Given the description of an element on the screen output the (x, y) to click on. 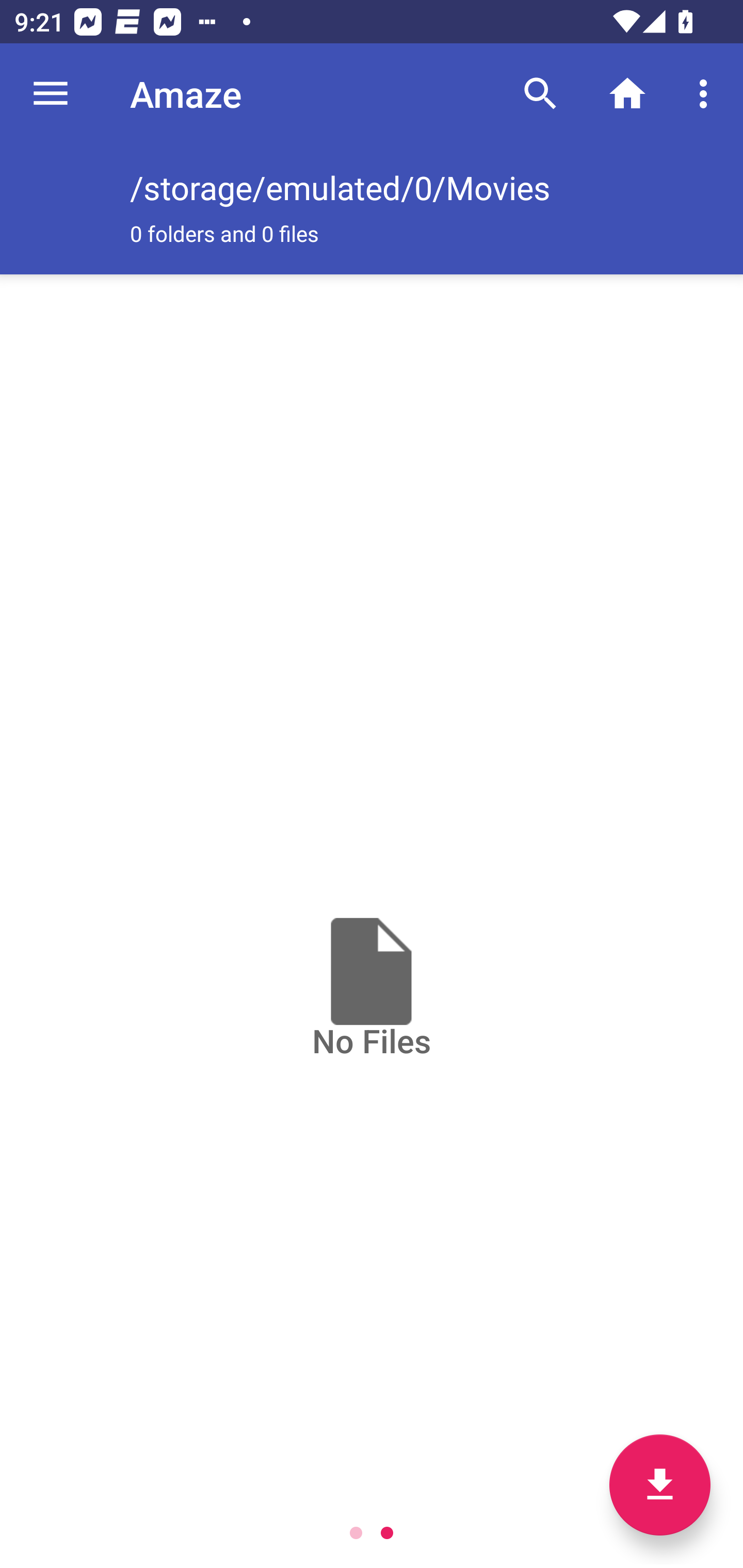
Navigate up (50, 93)
Search (540, 93)
Home (626, 93)
More options (706, 93)
